Given the description of an element on the screen output the (x, y) to click on. 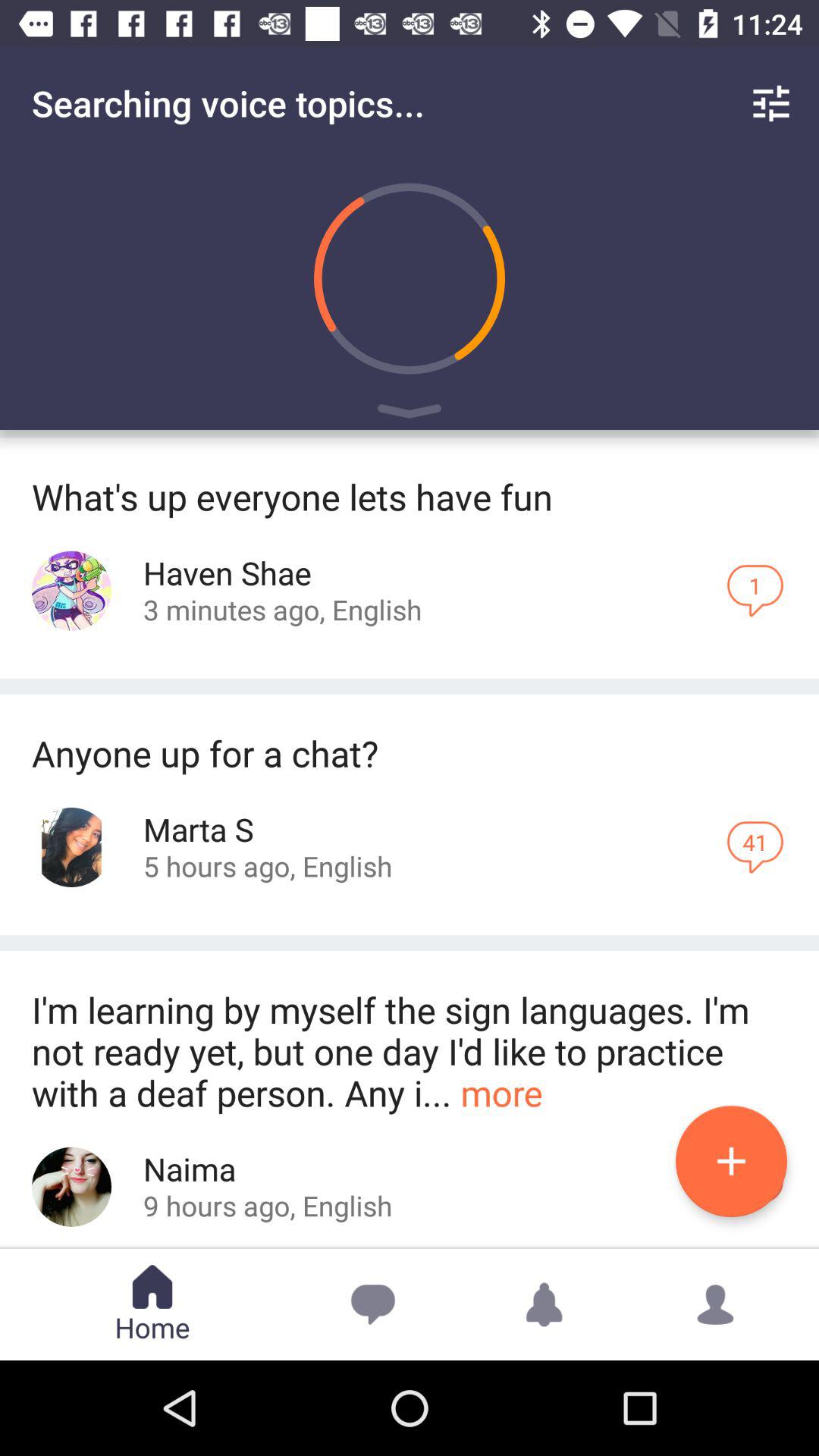
go to play (409, 413)
